Given the description of an element on the screen output the (x, y) to click on. 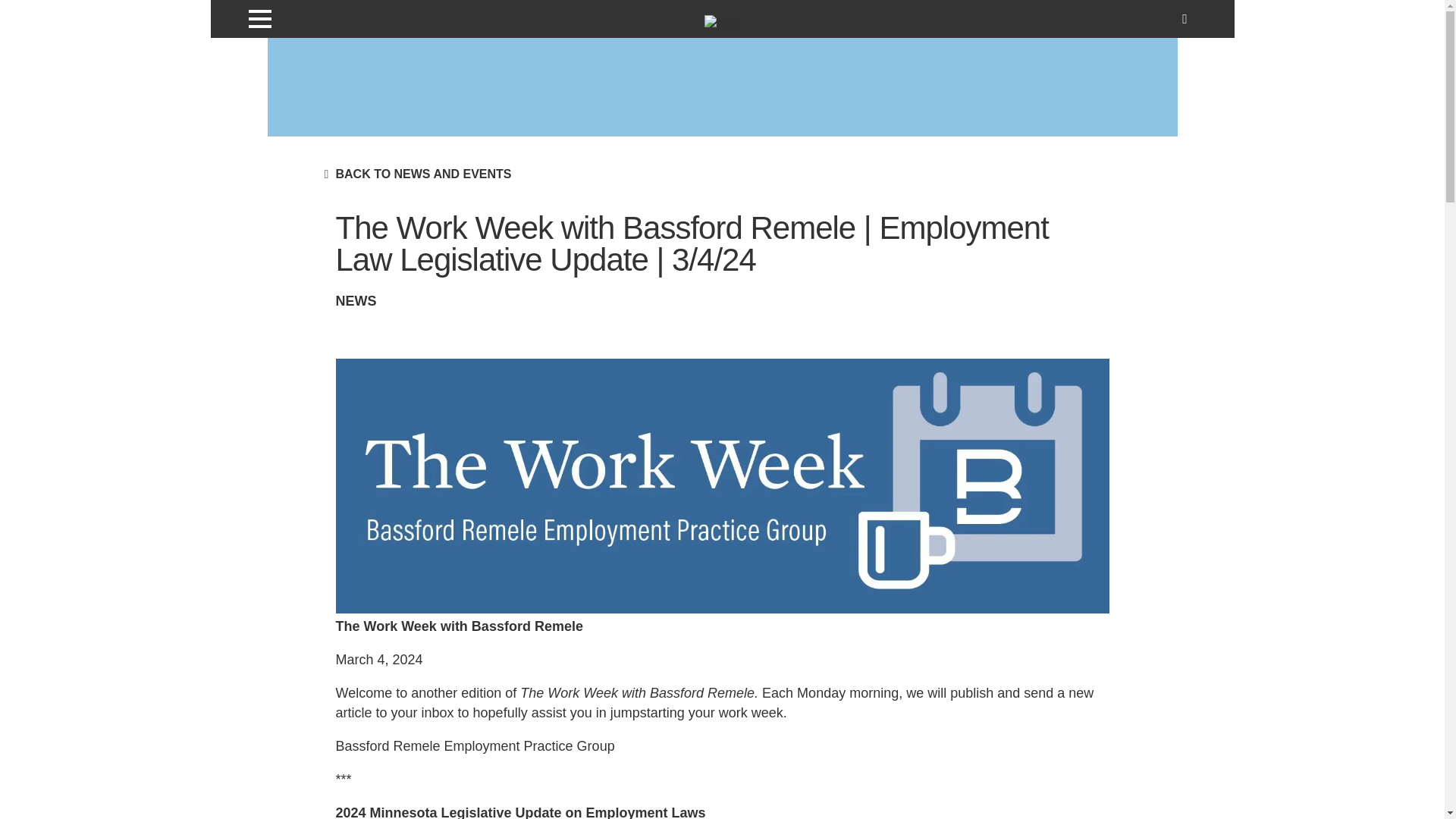
BACK TO NEWS AND EVENTS (422, 174)
